Given the description of an element on the screen output the (x, y) to click on. 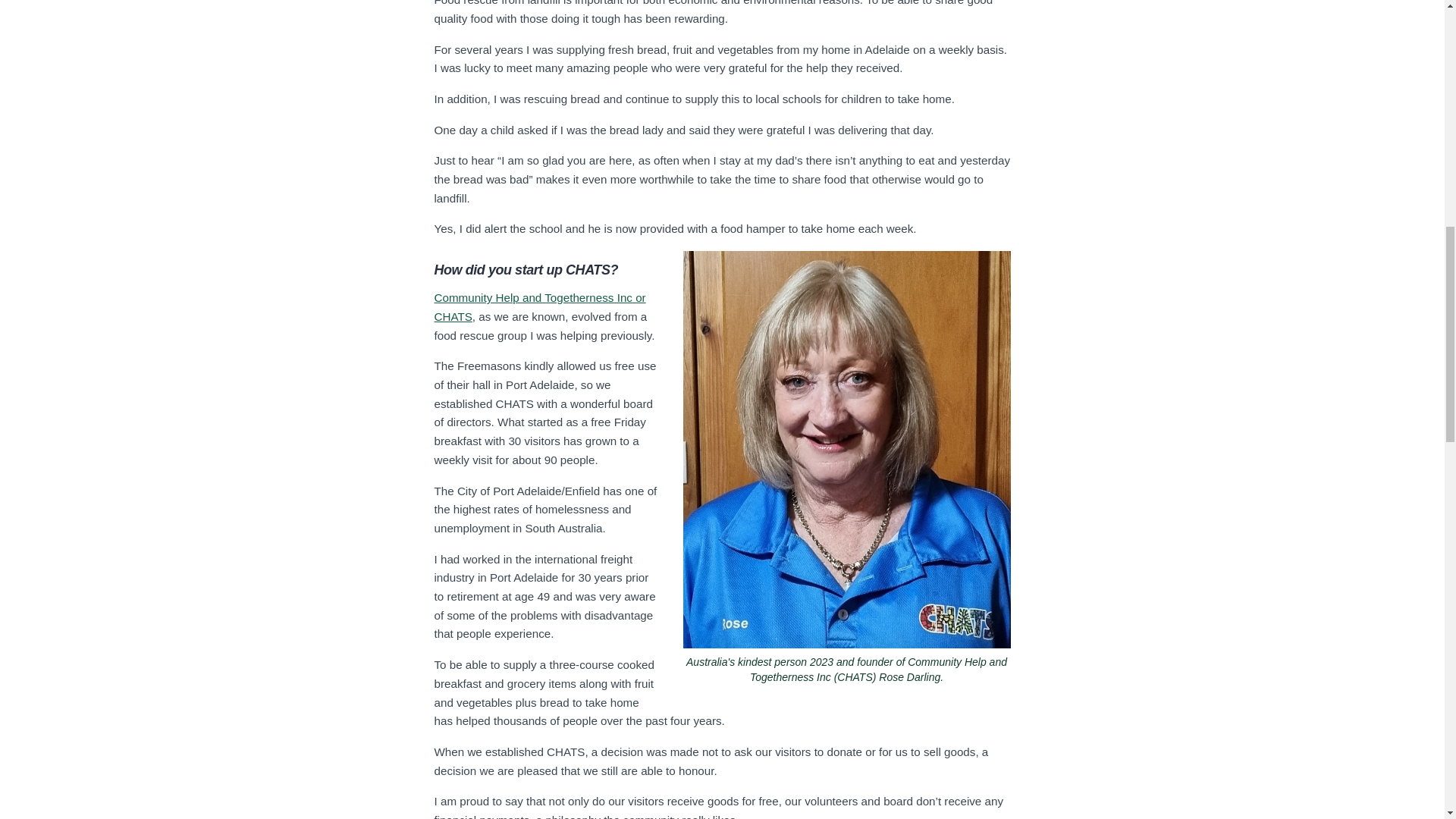
Community Help and Togetherness Inc or CHATS (539, 306)
